Given the description of an element on the screen output the (x, y) to click on. 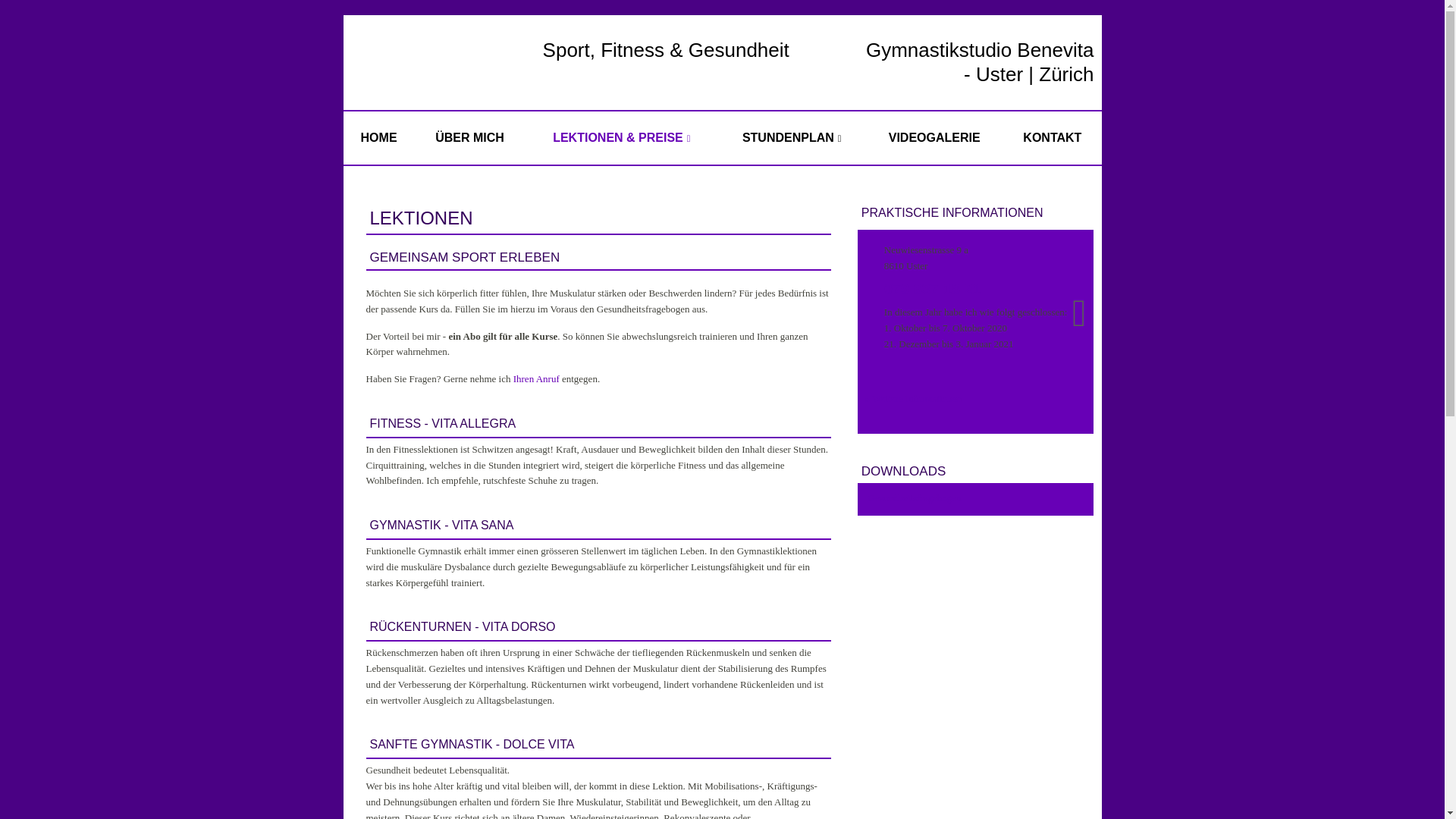
Gesundheitsfragebogen Element type: text (979, 498)
VIDEOGALERIE Element type: text (934, 137)
KONTAKT Element type: text (1052, 137)
LEKTIONEN & PREISE Element type: text (621, 137)
HOME Element type: text (378, 137)
079 637 18 21 Element type: text (936, 289)
STUNDENPLAN Element type: text (791, 137)
Ihren Anruf Element type: text (536, 378)
